Given the description of an element on the screen output the (x, y) to click on. 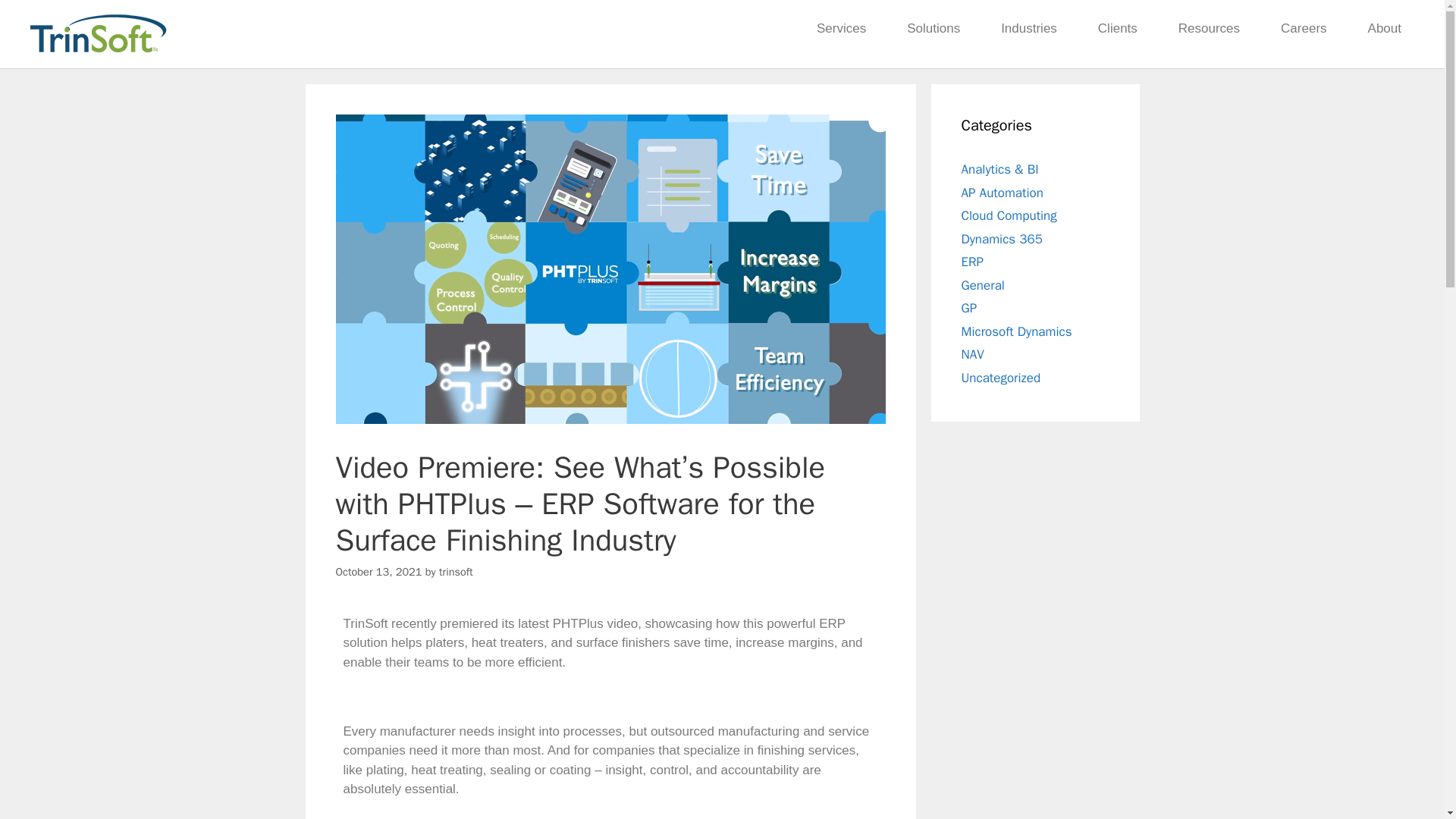
4:07 pm (378, 571)
About (1385, 28)
Careers (1303, 28)
Clients (1117, 28)
Solutions (932, 28)
Industries (1028, 28)
View all posts by trinsoft (456, 571)
Services (841, 28)
Resources (1208, 28)
